Given the description of an element on the screen output the (x, y) to click on. 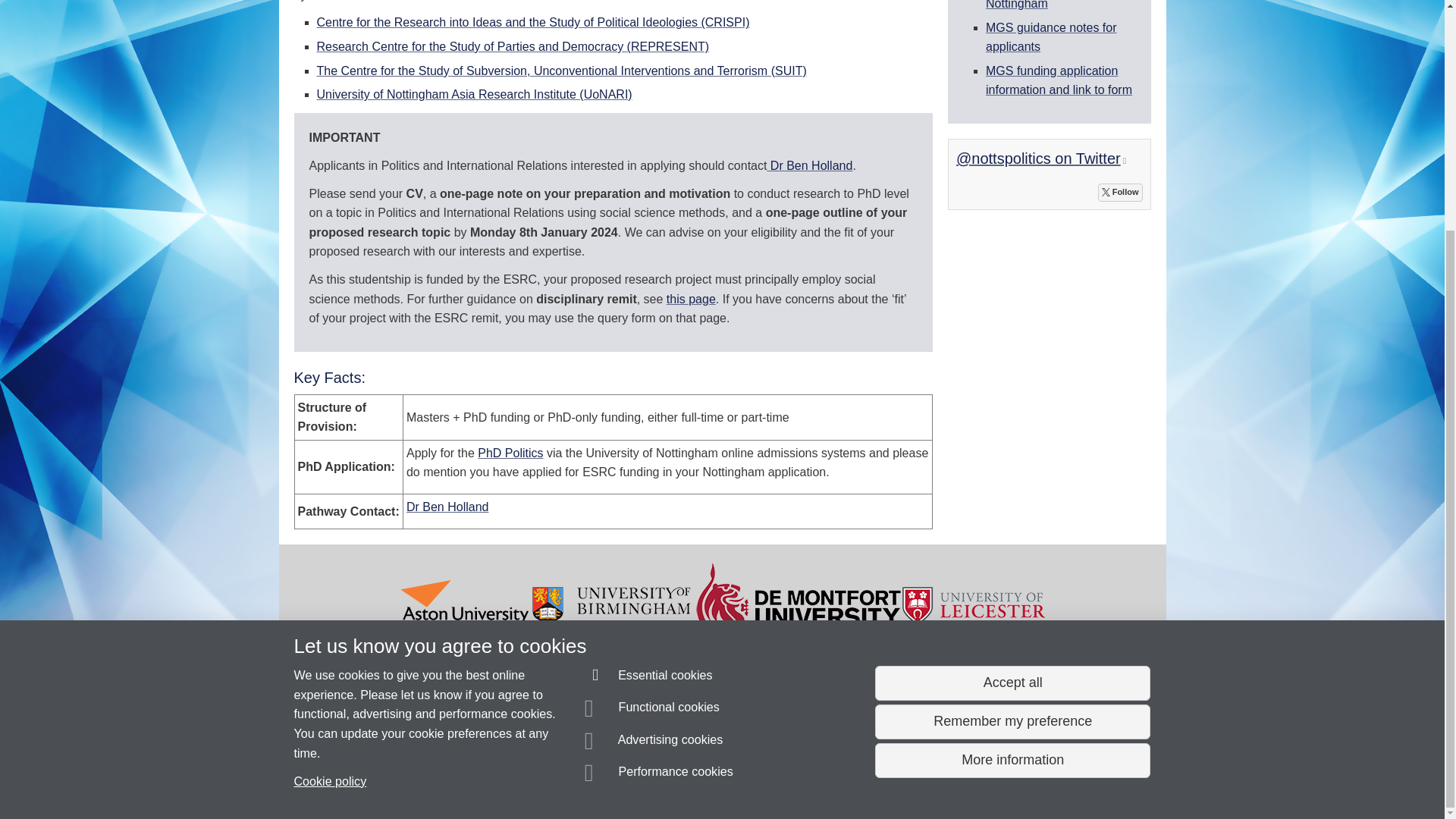
Dr Ben Holland (809, 164)
Guidance (1050, 36)
this page (691, 298)
PhD Politics (510, 452)
Form (1058, 80)
University of Birmingham lgo (611, 604)
Aston University logo (463, 604)
University of Leicester logo (973, 604)
De Montfort University logo (798, 604)
Dr Ben Holland (447, 506)
UoN Admissions (1058, 4)
